Given the description of an element on the screen output the (x, y) to click on. 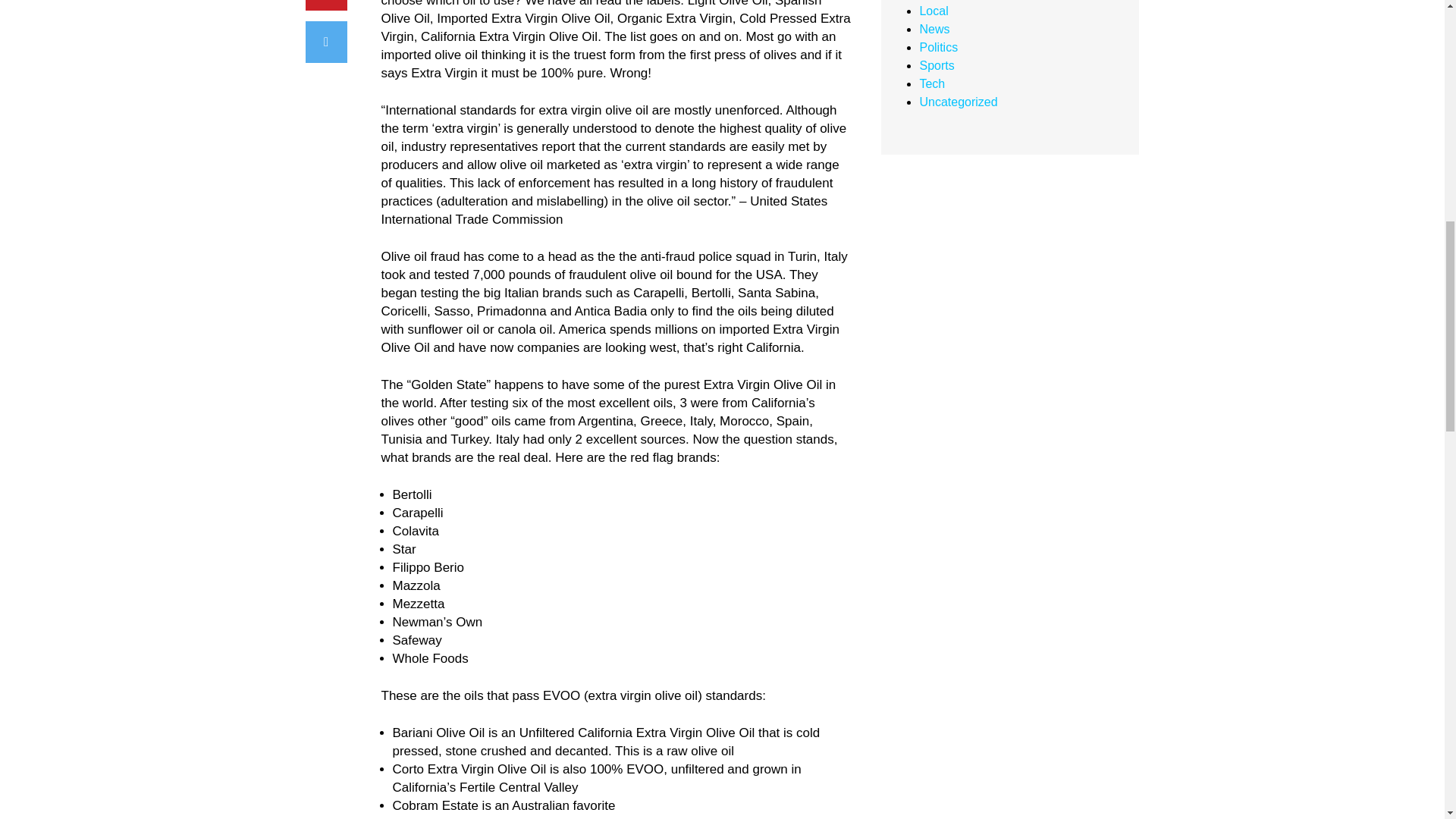
Politics (938, 47)
Local (932, 10)
News (933, 29)
Tech (931, 83)
Sports (935, 65)
